Given the description of an element on the screen output the (x, y) to click on. 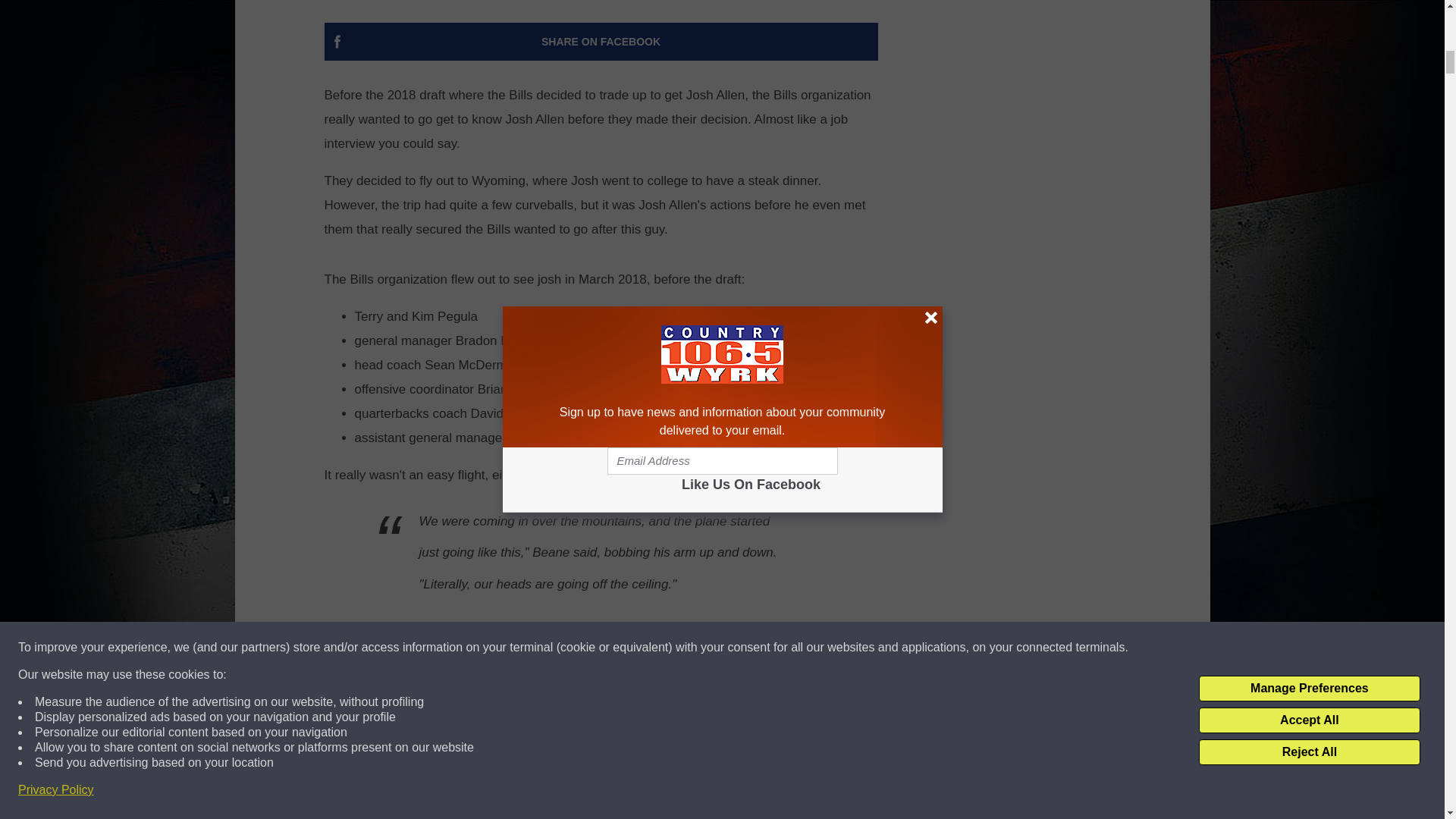
Share on Facebook (600, 41)
